Given the description of an element on the screen output the (x, y) to click on. 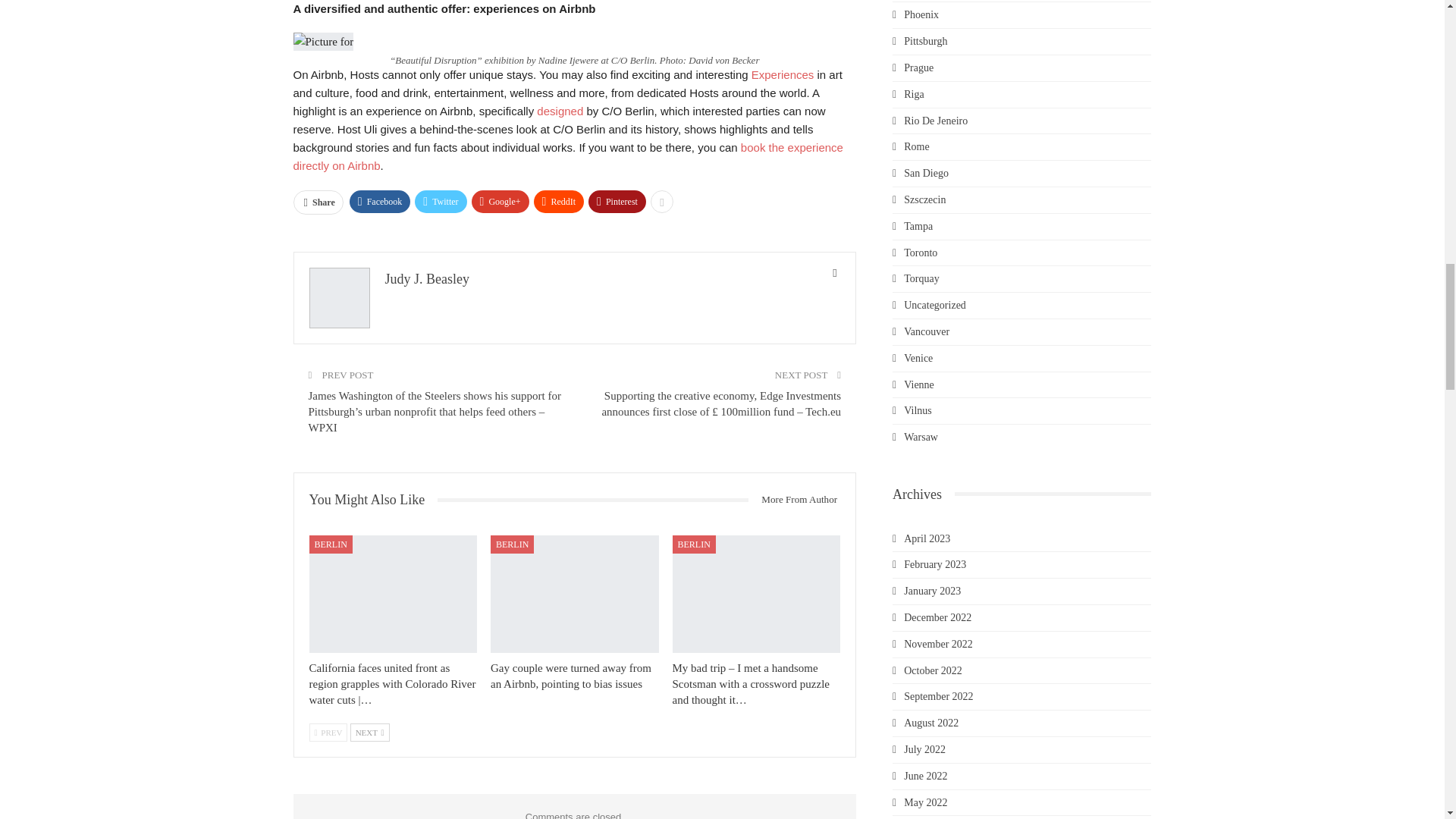
Next (370, 732)
Judy J. Beasley (427, 278)
book the experience directly on Airbnb (567, 155)
Previous (327, 732)
Experiences (782, 74)
Twitter (439, 201)
designed (560, 110)
Facebook (379, 201)
Pinterest (617, 201)
ReddIt (559, 201)
